Given the description of an element on the screen output the (x, y) to click on. 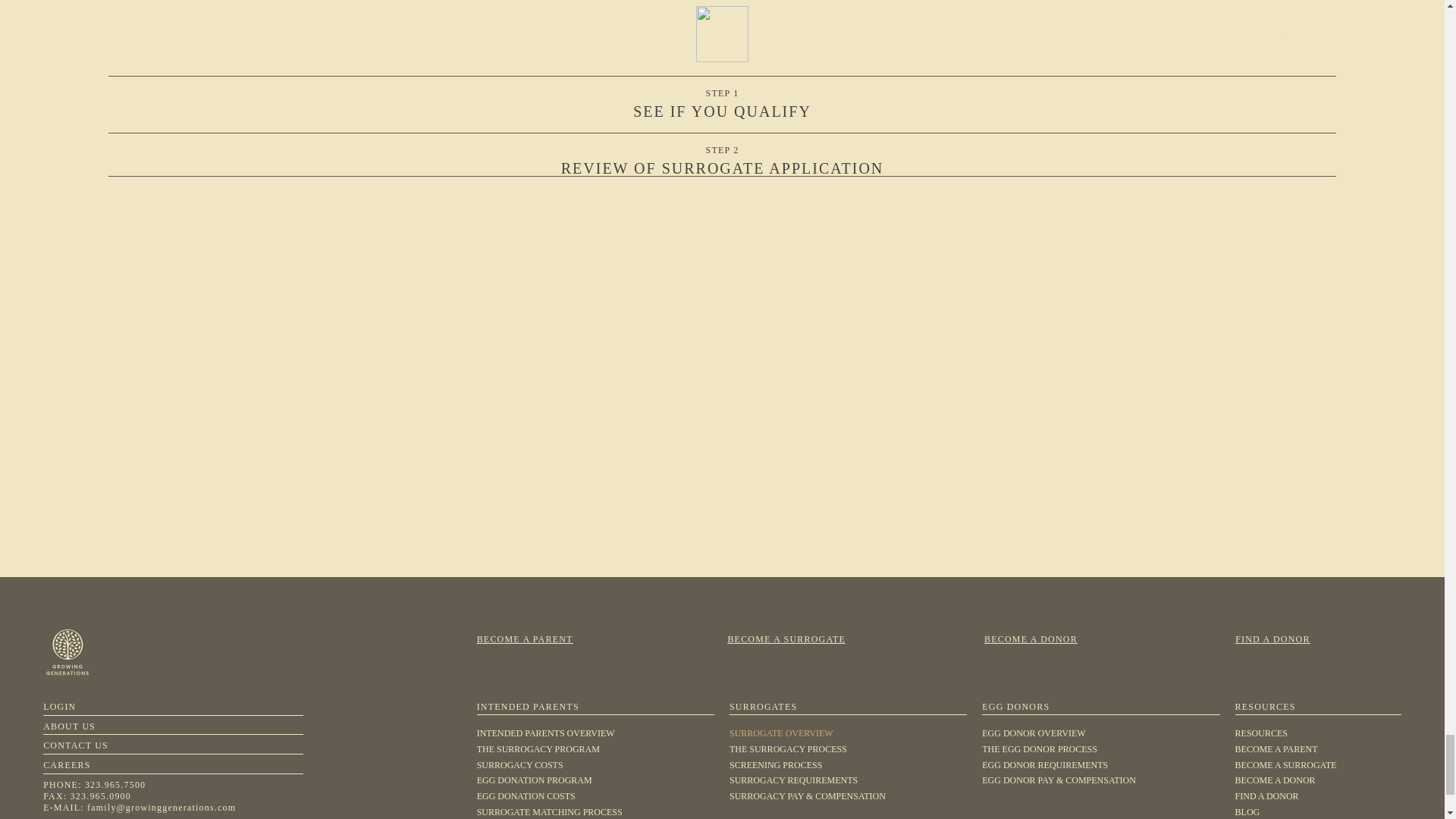
BECOME A PARENT (1317, 749)
BECOME A SURROGATE (1317, 765)
EGG DONATION COSTS (595, 796)
EGG DONOR REQUIREMENTS (1100, 765)
BECOME A DONOR (1317, 780)
RESOURCES (1317, 733)
ABOUT US (69, 726)
EGG DONOR OVERVIEW (1100, 733)
FIND A DONOR (1317, 796)
CONTACT US (75, 745)
LOGIN (59, 706)
SURROGATE OVERVIEW (847, 733)
SURROGACY COSTS (595, 765)
INTENDED PARENTS OVERVIEW (595, 733)
THE SURROGACY PROGRAM (595, 749)
